Given the description of an element on the screen output the (x, y) to click on. 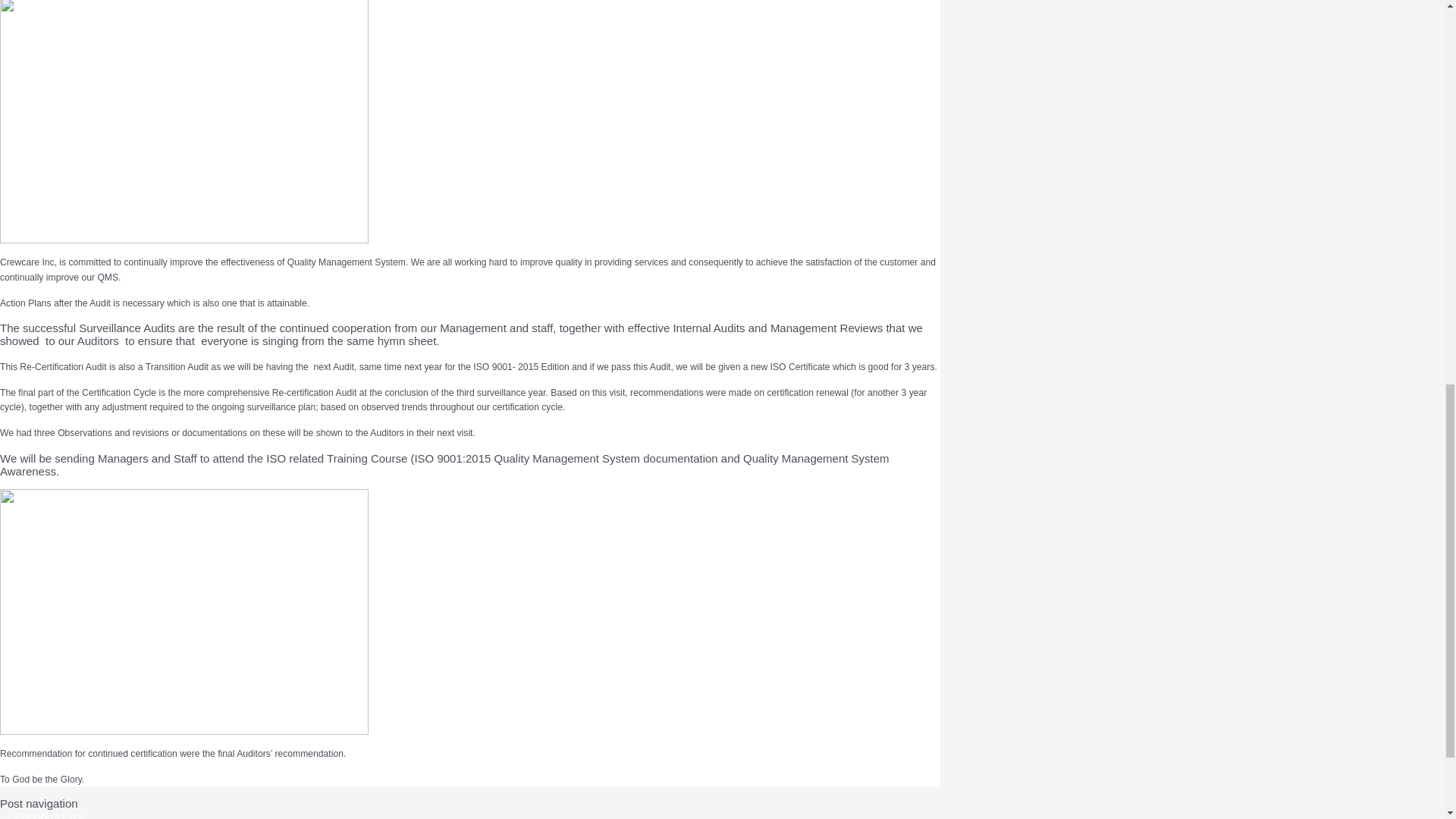
Christmas Party 2016 (42, 814)
